Given the description of an element on the screen output the (x, y) to click on. 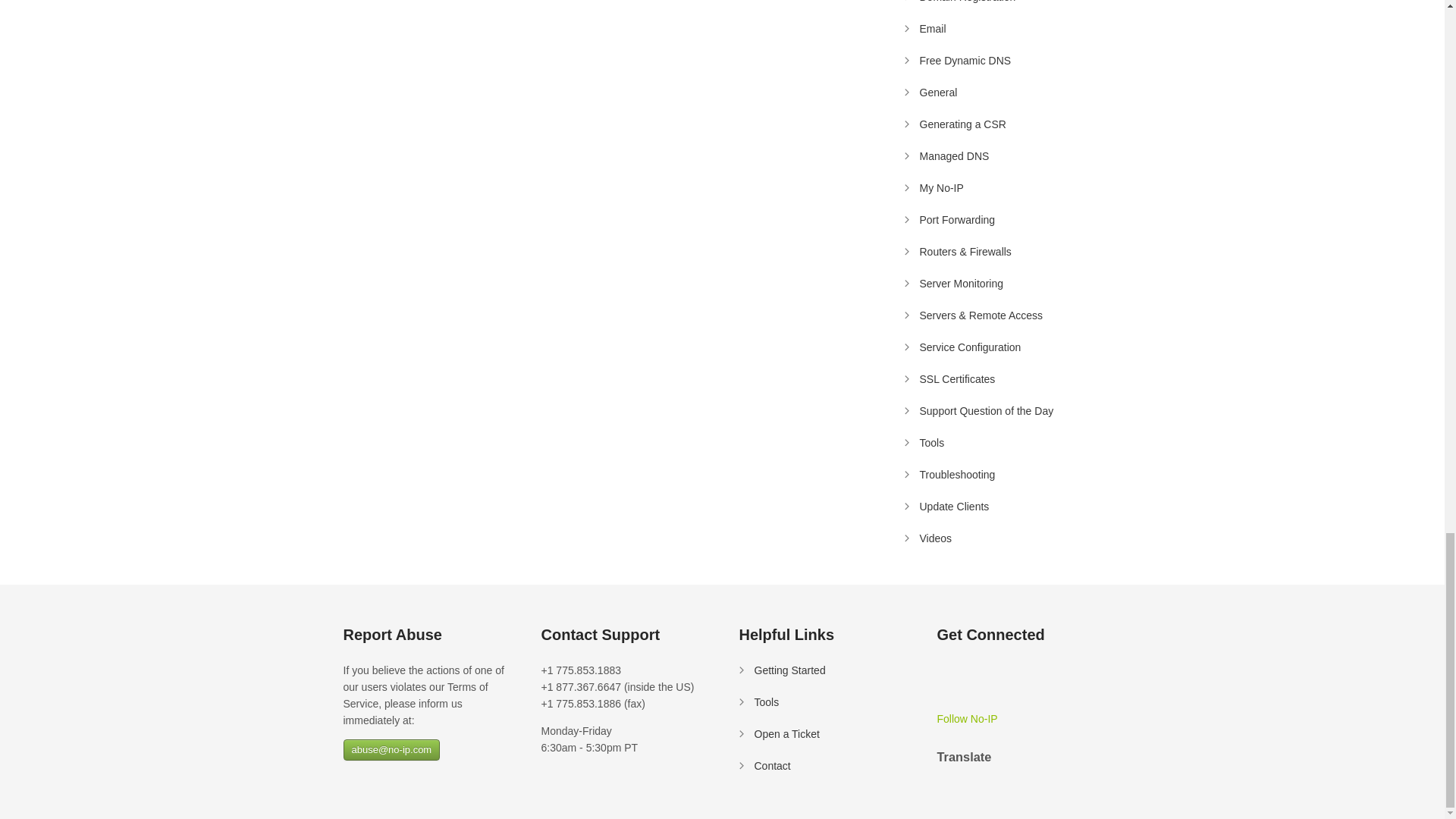
View all posts filed under General (937, 92)
View all posts filed under Generating a CSR (962, 123)
View all posts filed under Managed DNS (953, 155)
View all posts filed under Free Dynamic DNS (964, 60)
View all posts filed under My No-IP (940, 187)
View all posts filed under Port Forwarding (956, 219)
View all posts filed under Email (931, 28)
View all posts filed under Domain Registration (966, 1)
